Given the description of an element on the screen output the (x, y) to click on. 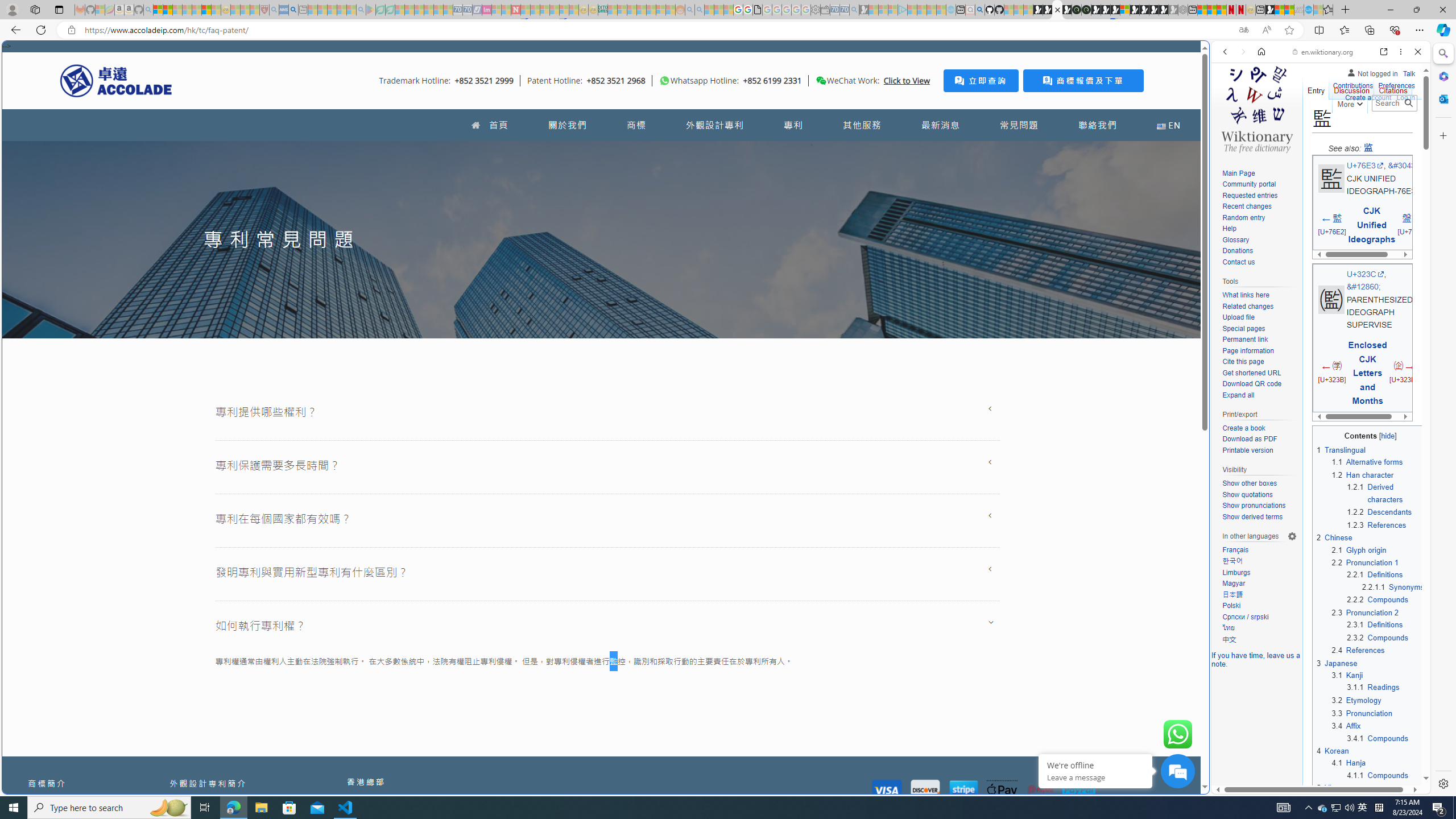
1.2.1 Derived characters (1385, 493)
Magyar (1259, 583)
Download as PDF (1248, 438)
Cite this page (1259, 361)
2.2.1Definitions2.2.1.1Synonyms (1385, 580)
&#30435; (1404, 165)
Community portal (1248, 184)
Expand all (1259, 395)
Upload file (1259, 317)
